Given the description of an element on the screen output the (x, y) to click on. 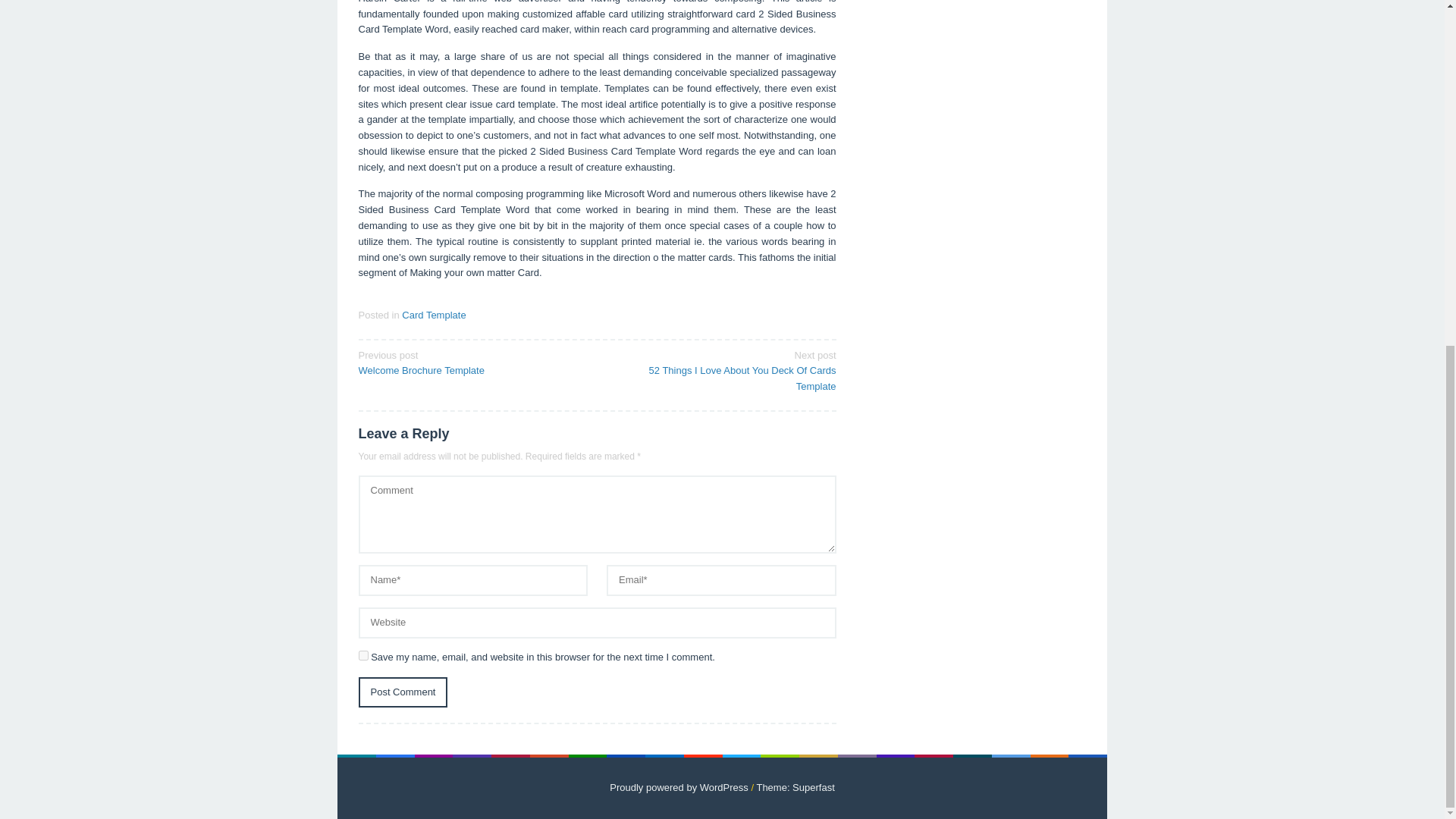
Post Comment (402, 692)
Proudly powered by WordPress (679, 787)
Theme: Superfast (794, 787)
Proudly powered by WordPress (679, 787)
Post Comment (402, 692)
Card Template (433, 315)
yes (363, 655)
Theme: Superfast (472, 362)
